Given the description of an element on the screen output the (x, y) to click on. 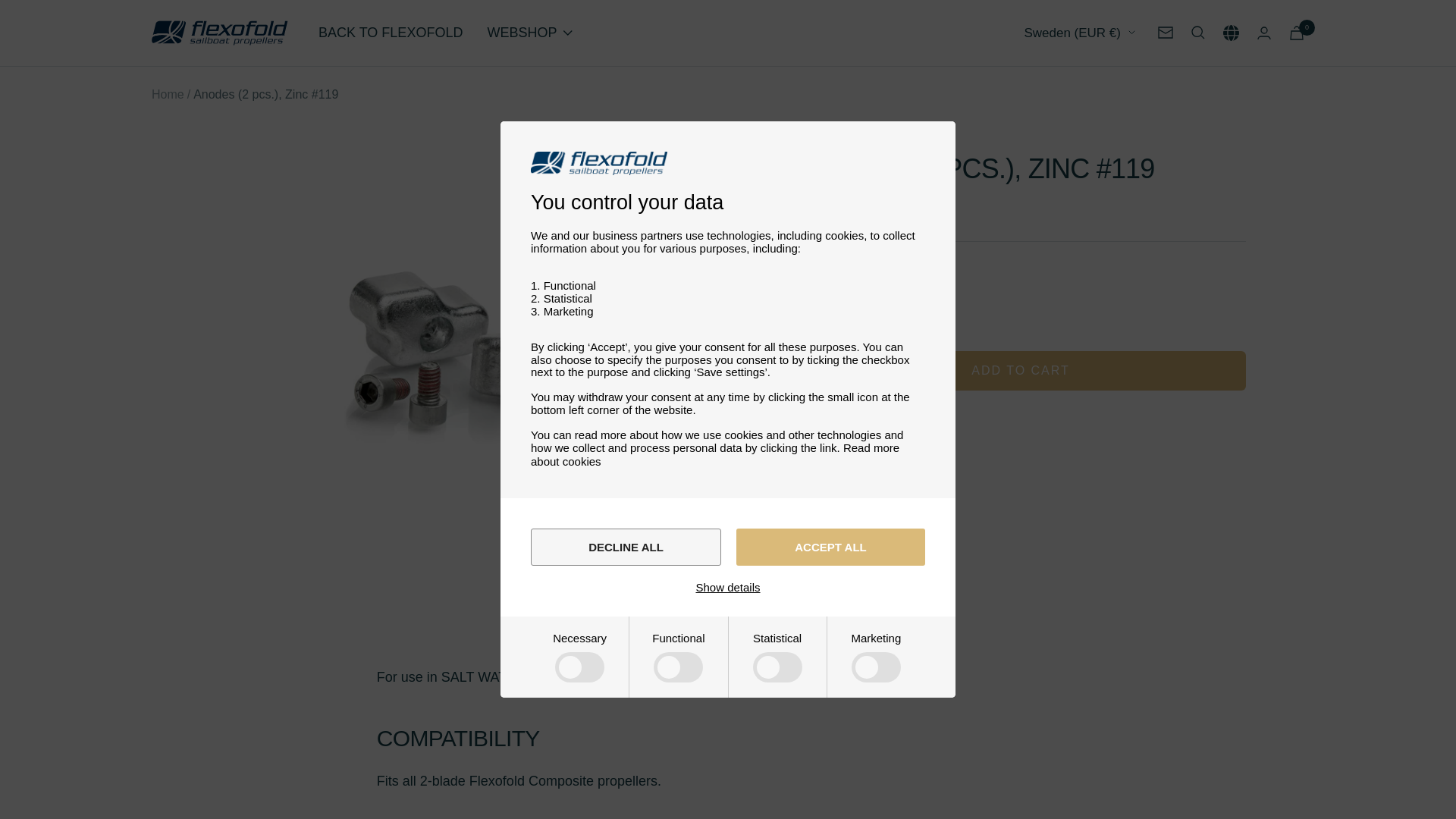
Read more about cookies (715, 454)
Show details (727, 586)
DECLINE ALL (625, 546)
ACCEPT ALL (830, 546)
1 (851, 308)
